Given the description of an element on the screen output the (x, y) to click on. 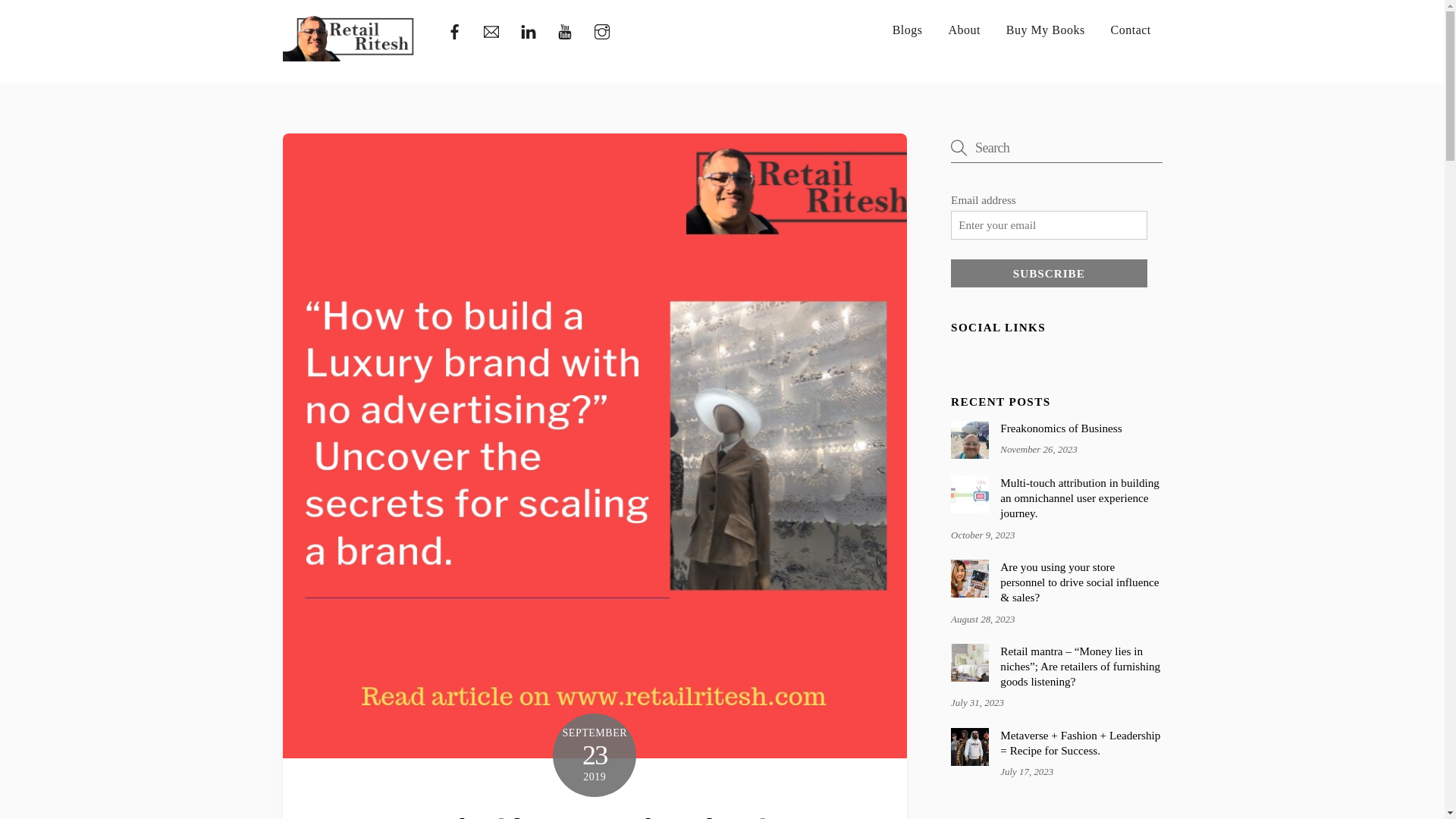
Live shopping (969, 578)
Search (1055, 147)
Subscribe (1048, 273)
Buy My Books (1045, 30)
retail ritesh (348, 38)
MTA (969, 494)
Blogs (907, 30)
container-store-dorm.jpeg (969, 662)
Contact (1131, 30)
Freakonomics of Business (1055, 427)
Simplifying retail (348, 54)
About (964, 30)
Subscribe (1048, 273)
meta verse (969, 746)
